Given the description of an element on the screen output the (x, y) to click on. 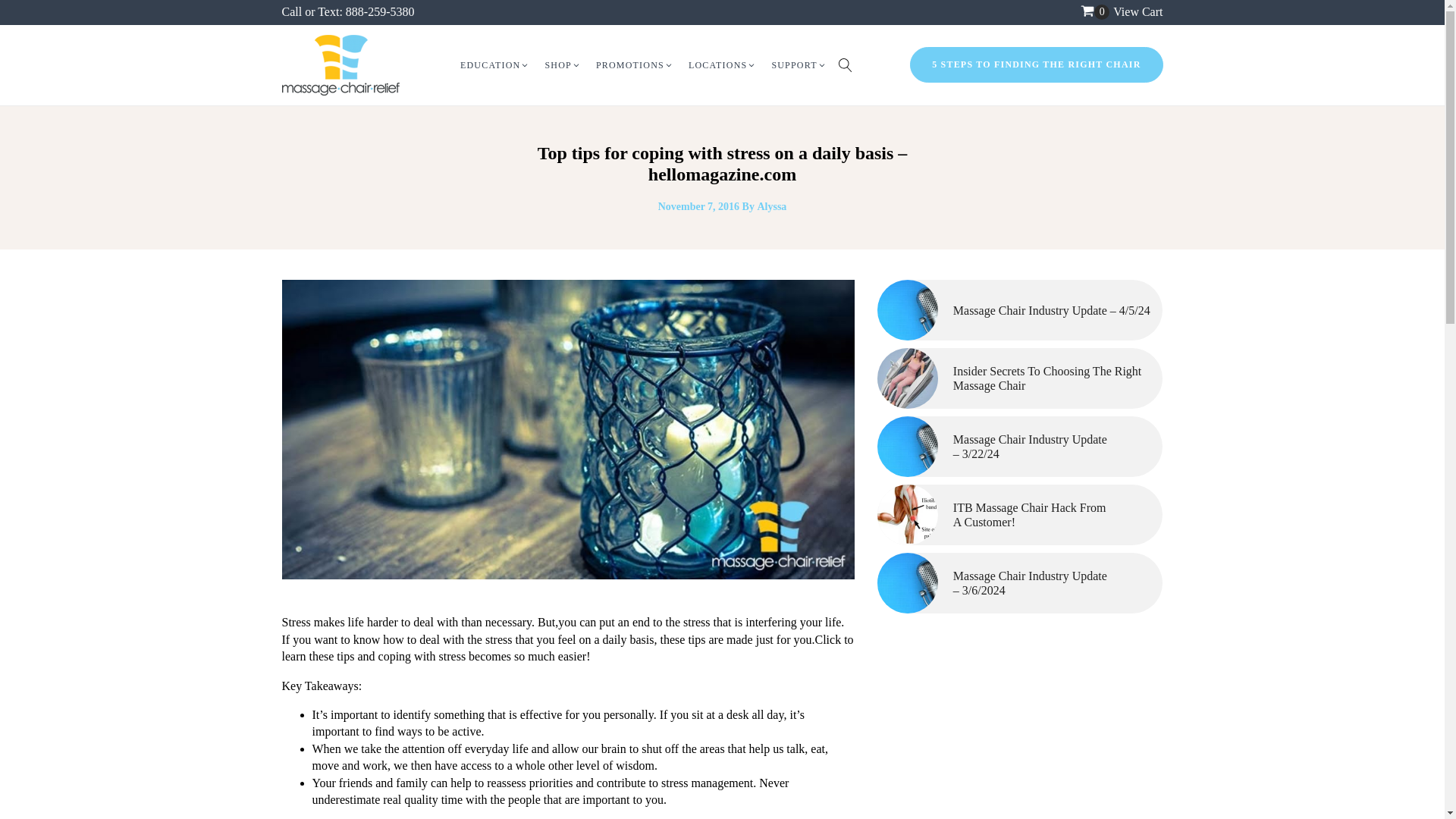
EDUCATION (494, 65)
Go to Cart (1094, 12)
SHOP (562, 65)
View Cart (1137, 11)
Call or Text: 888-259-5380 (348, 11)
